Given the description of an element on the screen output the (x, y) to click on. 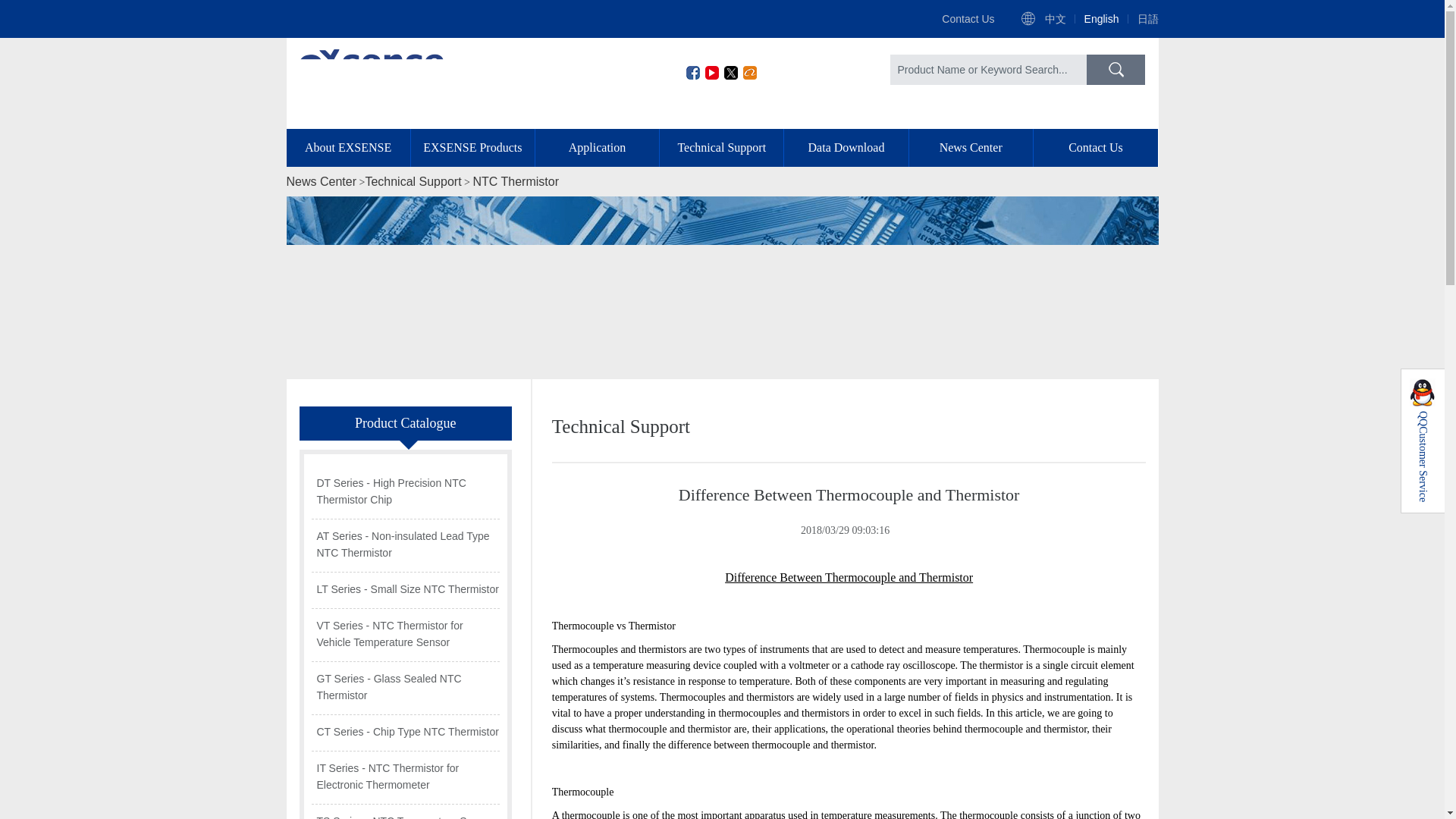
Contact Us (968, 18)
English (1101, 18)
